Given the description of an element on the screen output the (x, y) to click on. 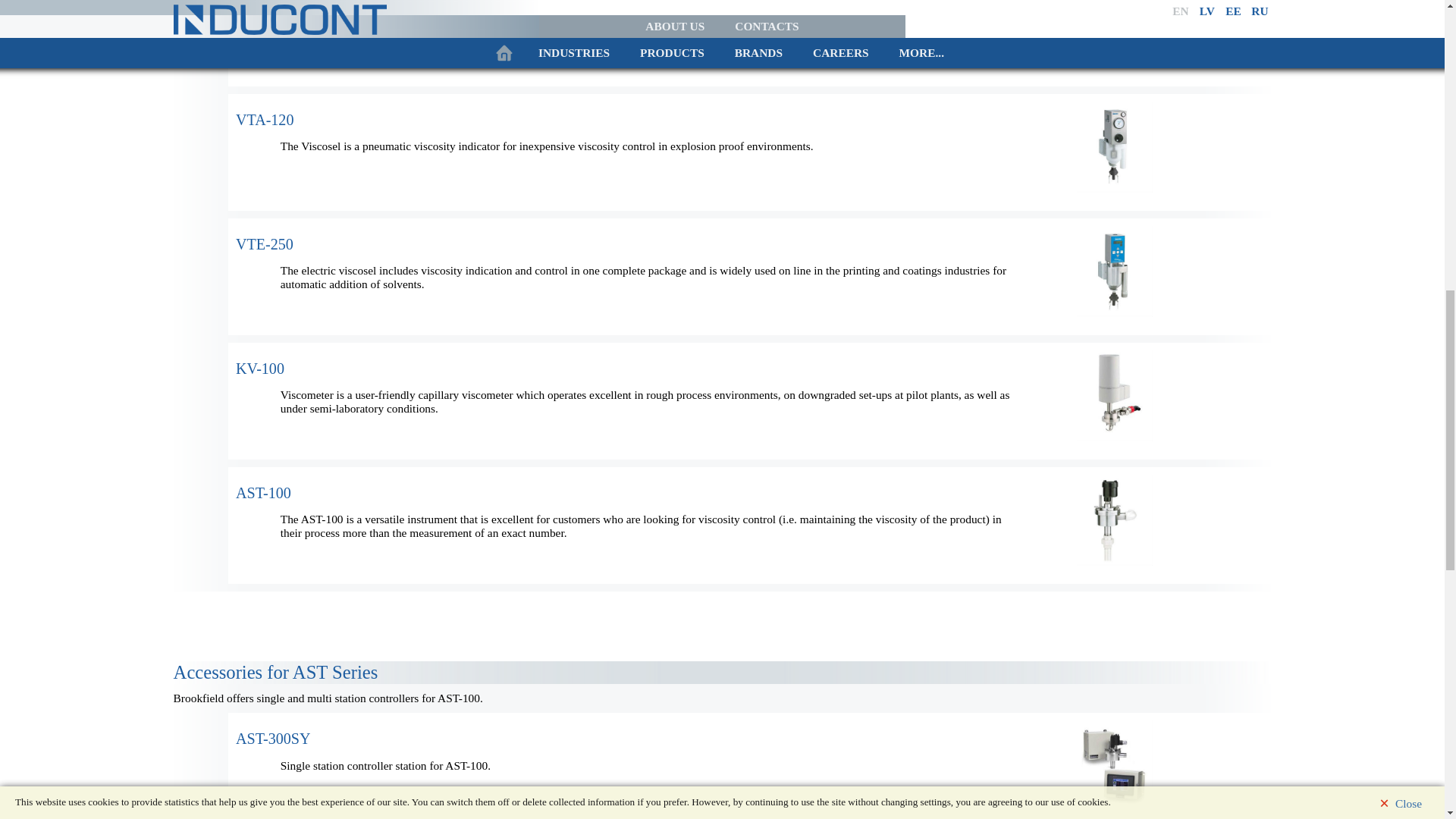
Click to expand (263, 492)
Click to expand (264, 119)
Click to expand (1115, 33)
Click to expand (264, 243)
Click to expand (273, 738)
Click to expand (258, 1)
Click to expand (259, 368)
